Given the description of an element on the screen output the (x, y) to click on. 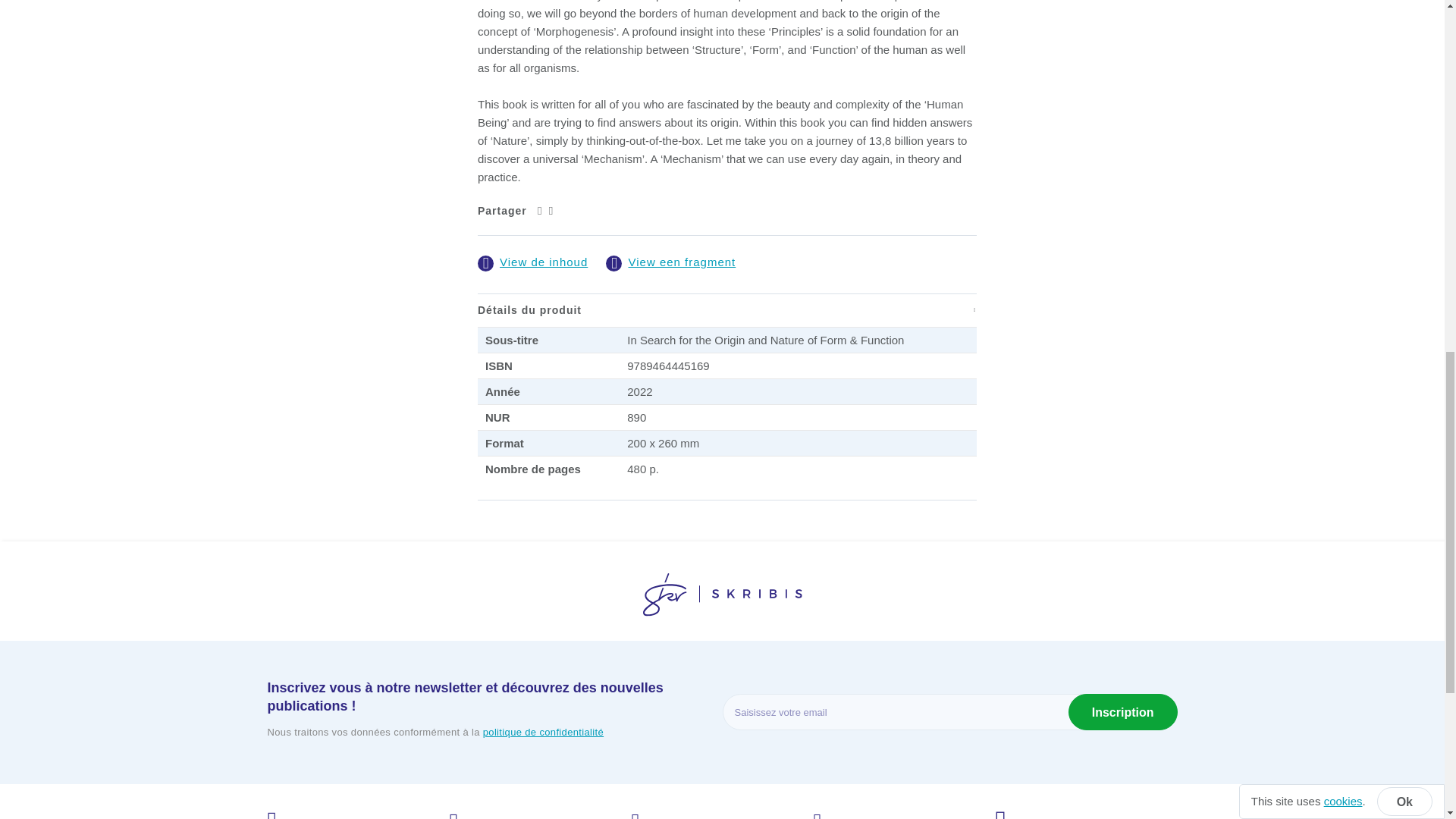
Twitter (539, 210)
Inscription (1122, 711)
Skribis (722, 597)
Facebook (550, 210)
Skribis (722, 594)
